Given the description of an element on the screen output the (x, y) to click on. 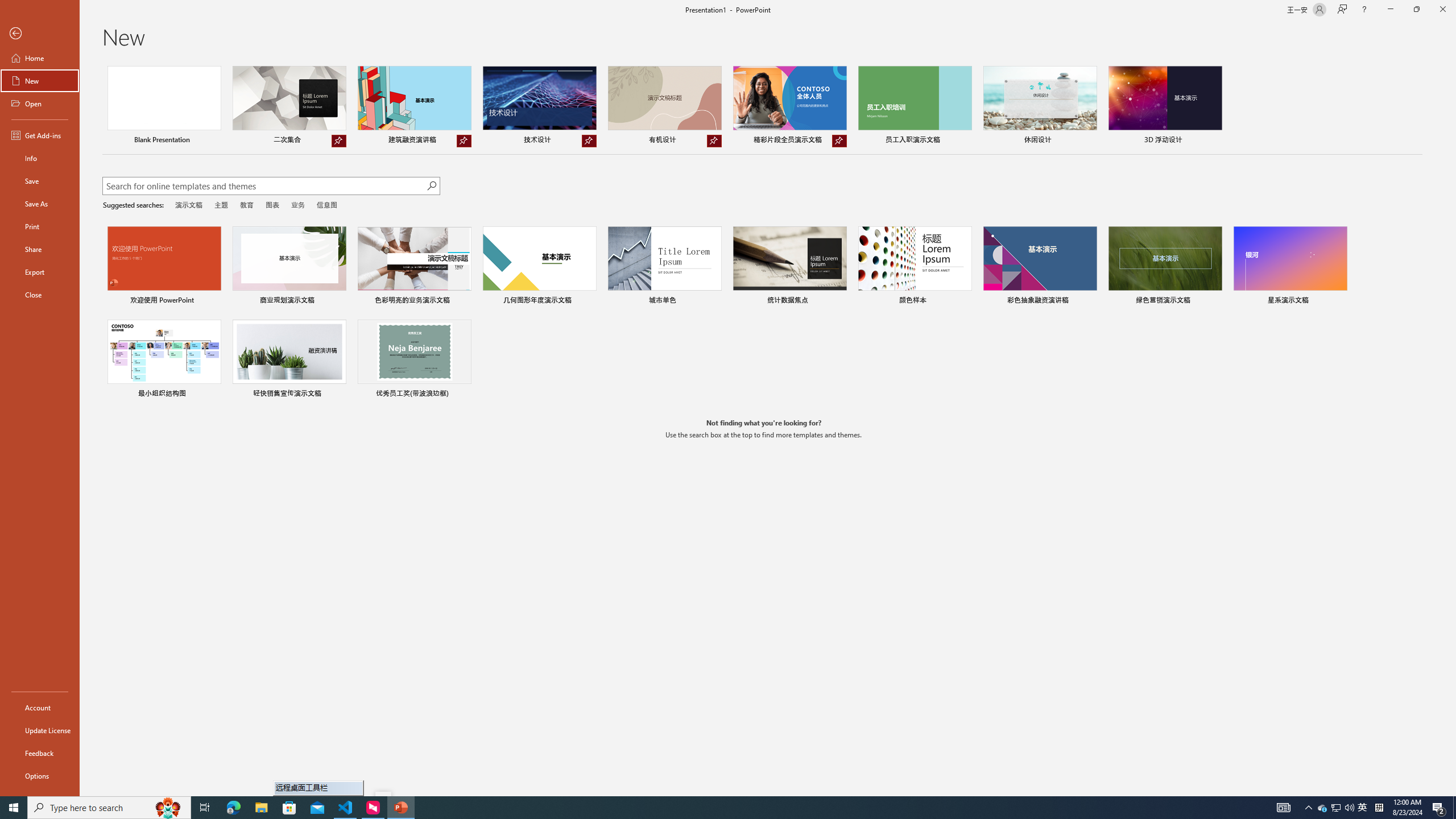
New (40, 80)
Unpin from list (839, 141)
